Given the description of an element on the screen output the (x, y) to click on. 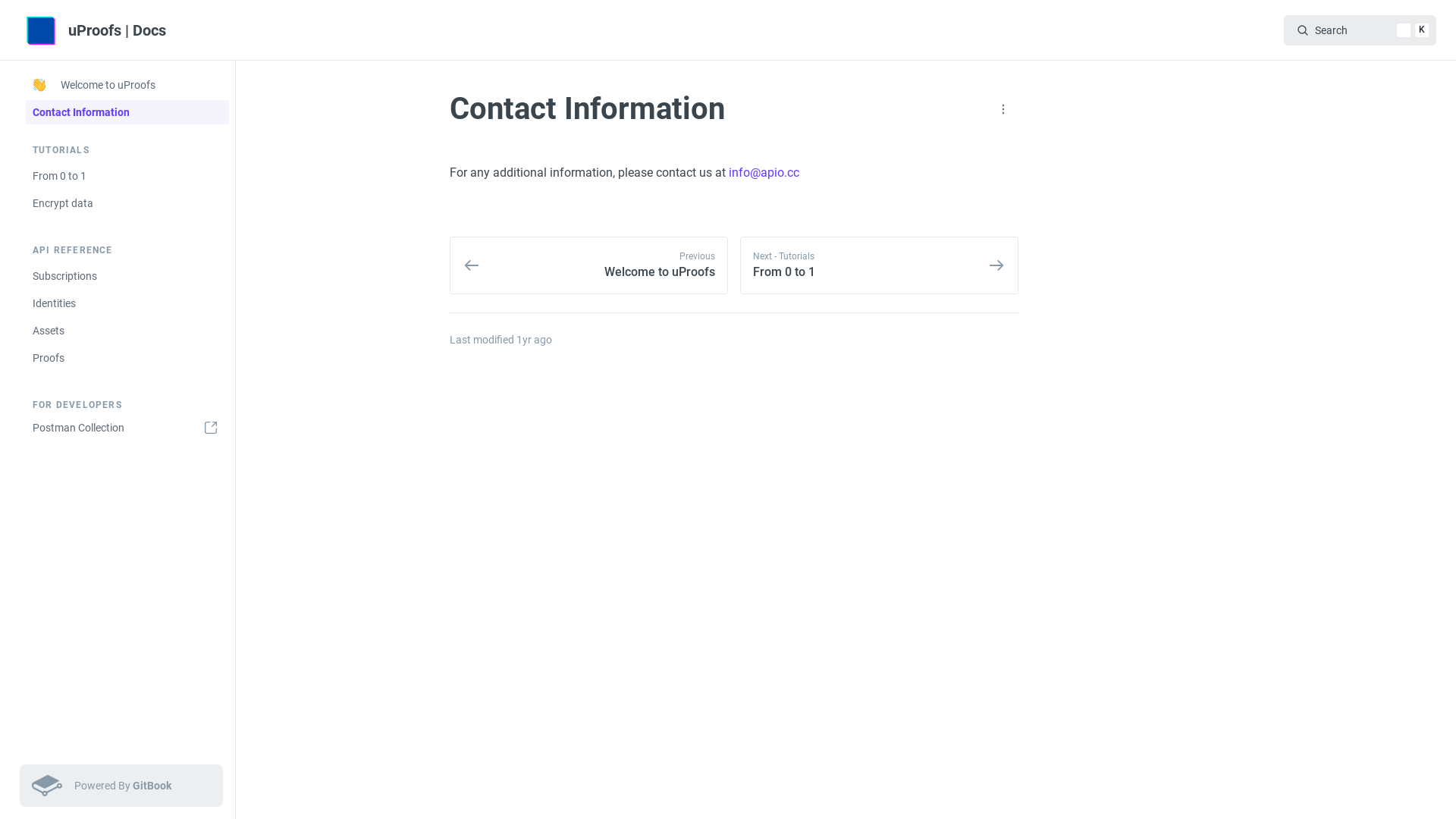
Contact Information Element type: text (127, 112)
Previous
Welcome to uProofs Element type: text (588, 265)
From 0 to 1 Element type: text (127, 175)
Identities Element type: text (127, 303)
Powered By GitBook Element type: text (120, 785)
Assets Element type: text (127, 330)
info@apio.cc Element type: text (763, 172)
Encrypt data Element type: text (127, 203)
Proofs Element type: text (127, 357)
Postman Collection Element type: text (127, 427)
Subscriptions Element type: text (127, 275)
uProofs | Docs Element type: text (98, 30)
Next - Tutorials
From 0 to 1 Element type: text (879, 265)
